Given the description of an element on the screen output the (x, y) to click on. 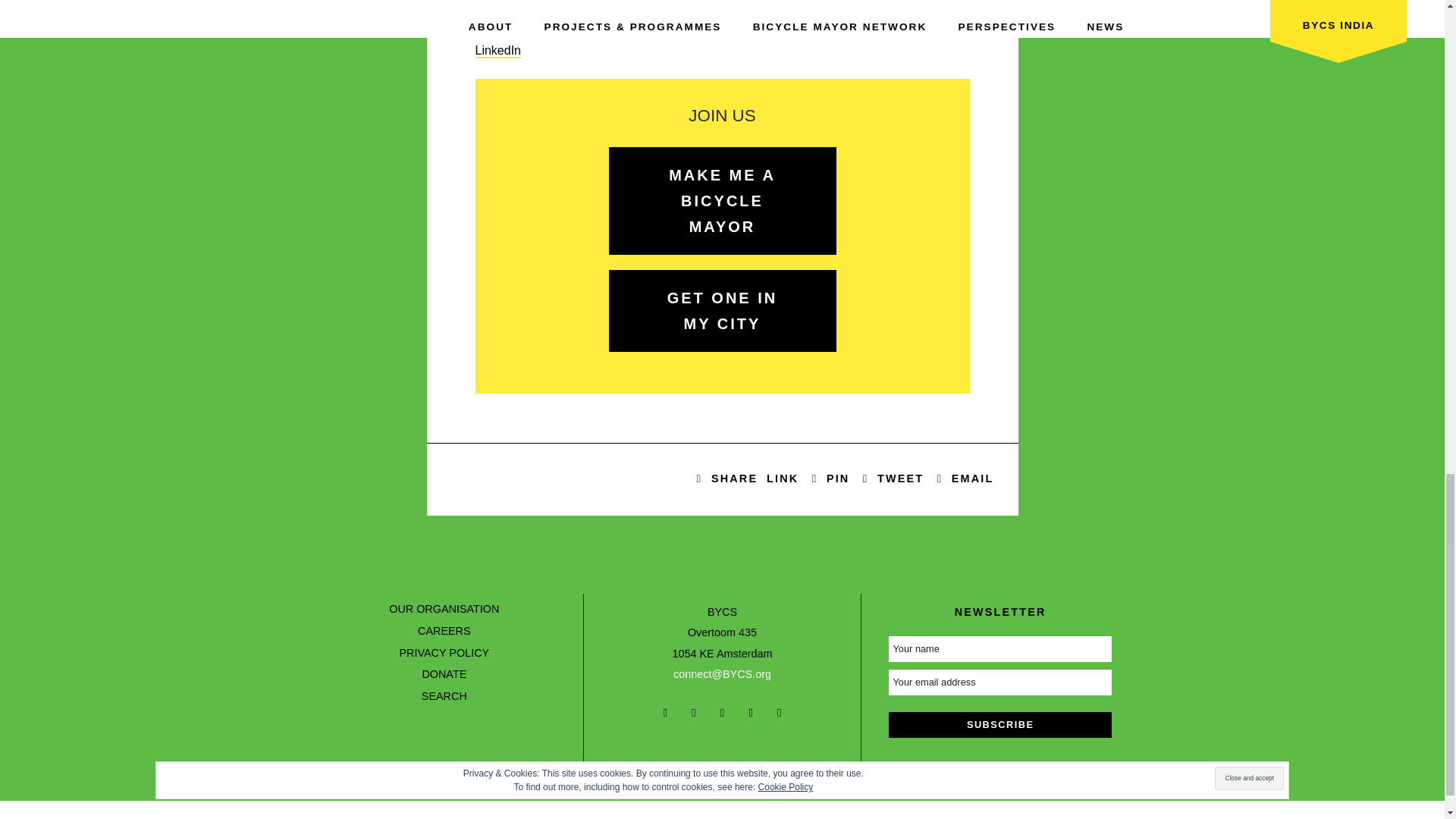
MAKE ME A BICYCLE MAYOR (721, 200)
DONATE (443, 674)
LINK (784, 478)
GET ONE IN MY CITY (721, 311)
Facebook (500, 7)
Instagram (501, 29)
Subscribe (999, 724)
TWEET (893, 478)
PRIVACY POLICY (443, 653)
LinkedIn (497, 51)
Twitter (893, 478)
PIN (830, 478)
CAREERS (443, 630)
OUR ORGANISATION (443, 608)
